Given the description of an element on the screen output the (x, y) to click on. 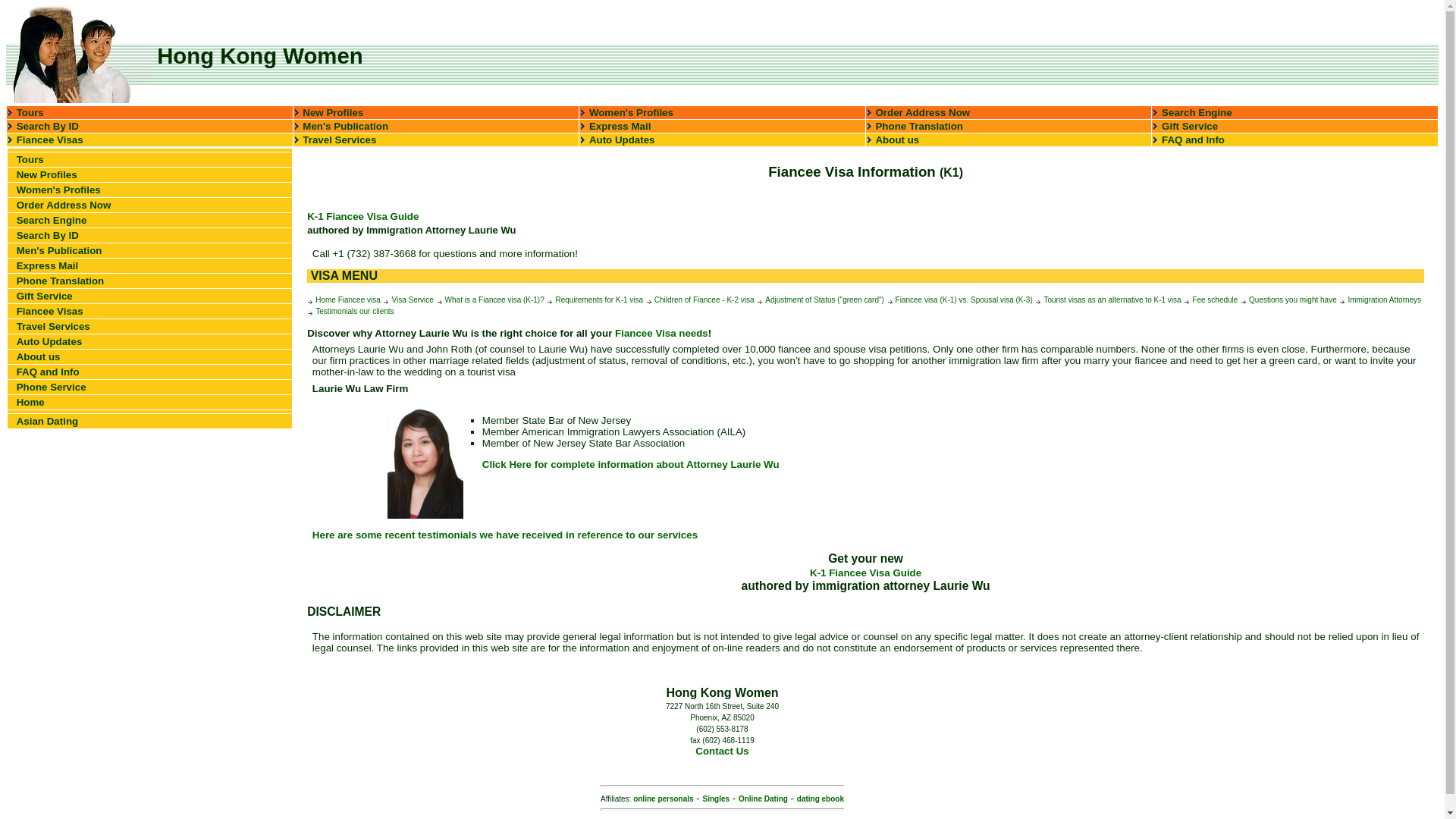
Asian Dating (47, 420)
Phone Translation (60, 280)
Order Address Now (64, 204)
Men's Publication (345, 125)
Fiancee Visas (49, 310)
About us (896, 139)
New Profiles (46, 174)
Auto Updates (49, 341)
Women's Profiles (630, 112)
Phone Service (50, 387)
Tours (29, 112)
Search By ID (47, 125)
Children of Fiancee - K-2 visa (700, 299)
Fiancee Visas (49, 139)
Express Mail (47, 265)
